Given the description of an element on the screen output the (x, y) to click on. 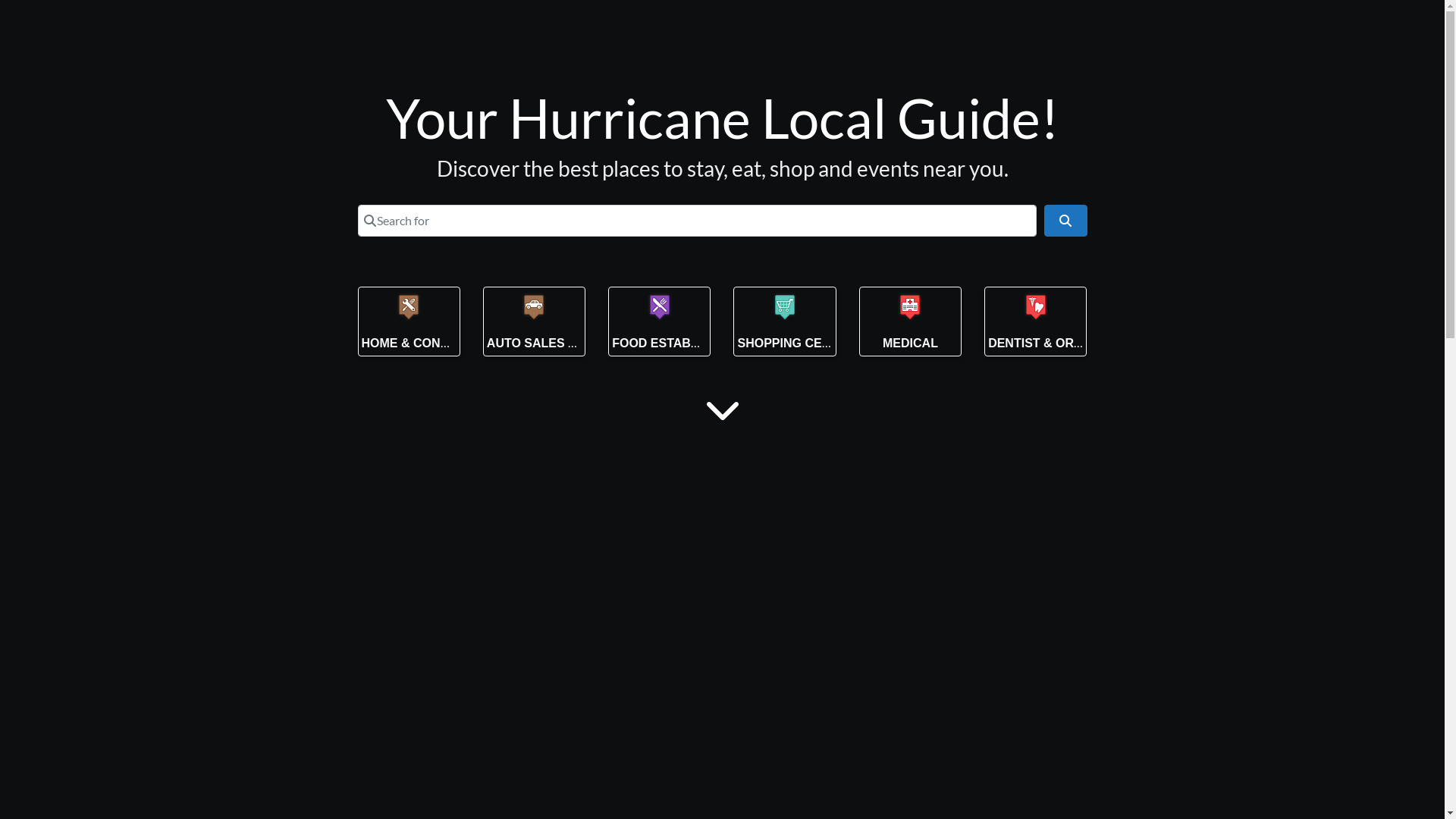
MEDICAL Element type: text (910, 342)
FOOD ESTABLISHMENT Element type: text (681, 342)
SHOPPING CENTER Element type: text (795, 342)
DENTIST & ORTHODONTIST Element type: text (1070, 342)
Search Element type: text (1065, 220)
AUTO SALES & SERVICE Element type: text (559, 342)
HOME & CONSTRUCTION Element type: text (435, 342)
